Given the description of an element on the screen output the (x, y) to click on. 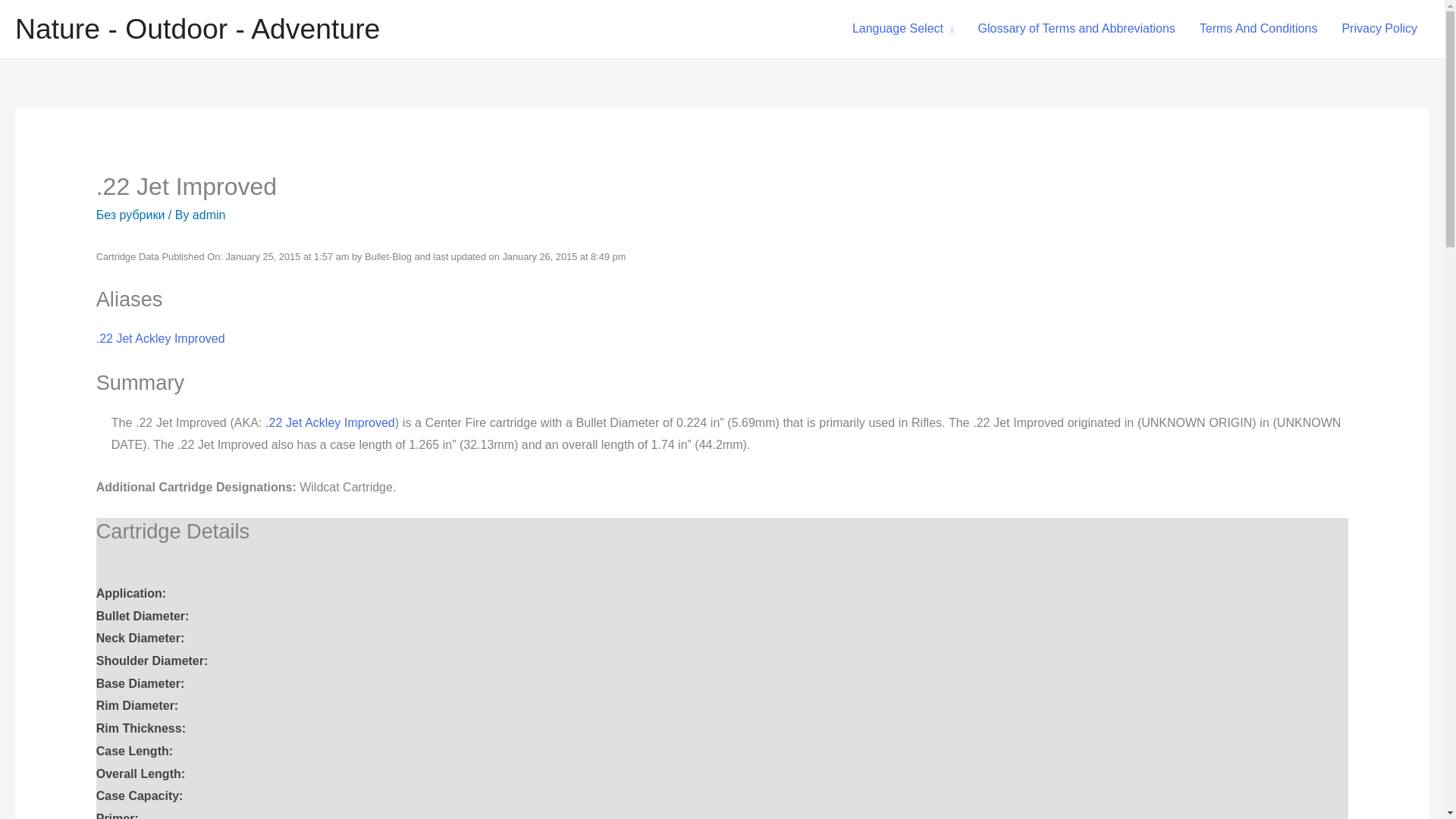
Privacy Policy (1379, 28)
.22 Jet Ackley Improved (160, 338)
Language Select (903, 28)
Nature - Outdoor - Adventure (197, 29)
Terms And Conditions (1259, 28)
View all posts by admin (208, 214)
admin (208, 214)
Glossary of Terms and Abbreviations (1077, 28)
.22 Jet Ackley Improved (329, 422)
